Given the description of an element on the screen output the (x, y) to click on. 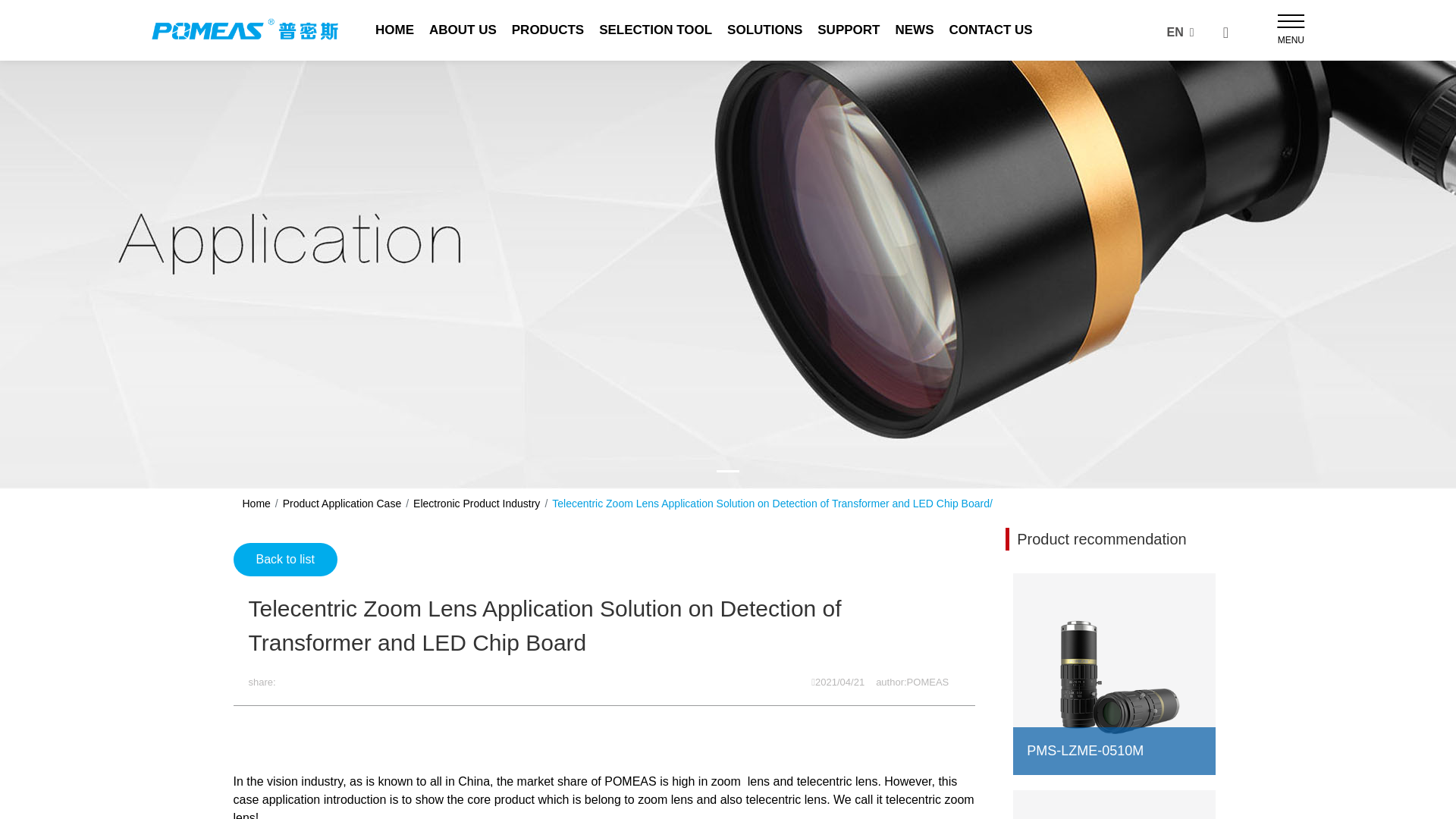
SELECTION TOOL (654, 30)
HOME (394, 30)
PRODUCTS (547, 30)
ABOUT US (462, 30)
